Given the description of an element on the screen output the (x, y) to click on. 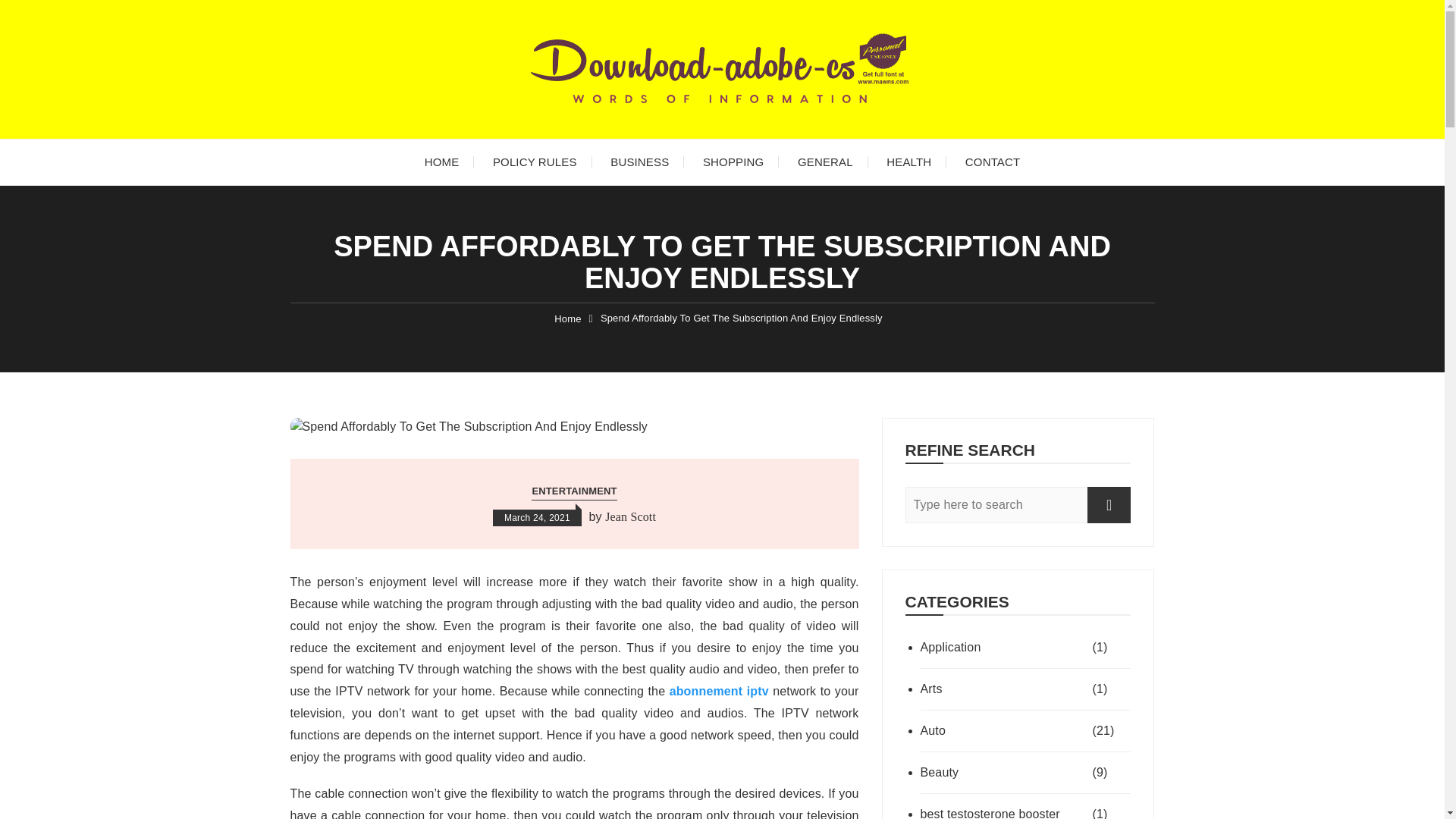
Home (567, 319)
HOME (441, 162)
abonnement iptv (718, 690)
Spend Affordably To Get The Subscription And Enjoy Endlessly (740, 318)
March 24, 2021 (536, 517)
HEALTH (908, 162)
GENERAL (825, 162)
Arts (1004, 689)
CONTACT (992, 162)
Application (1004, 647)
BUSINESS (639, 162)
SHOPPING (732, 162)
ENTERTAINMENT (573, 492)
Auto (1004, 730)
Beauty (1004, 772)
